Given the description of an element on the screen output the (x, y) to click on. 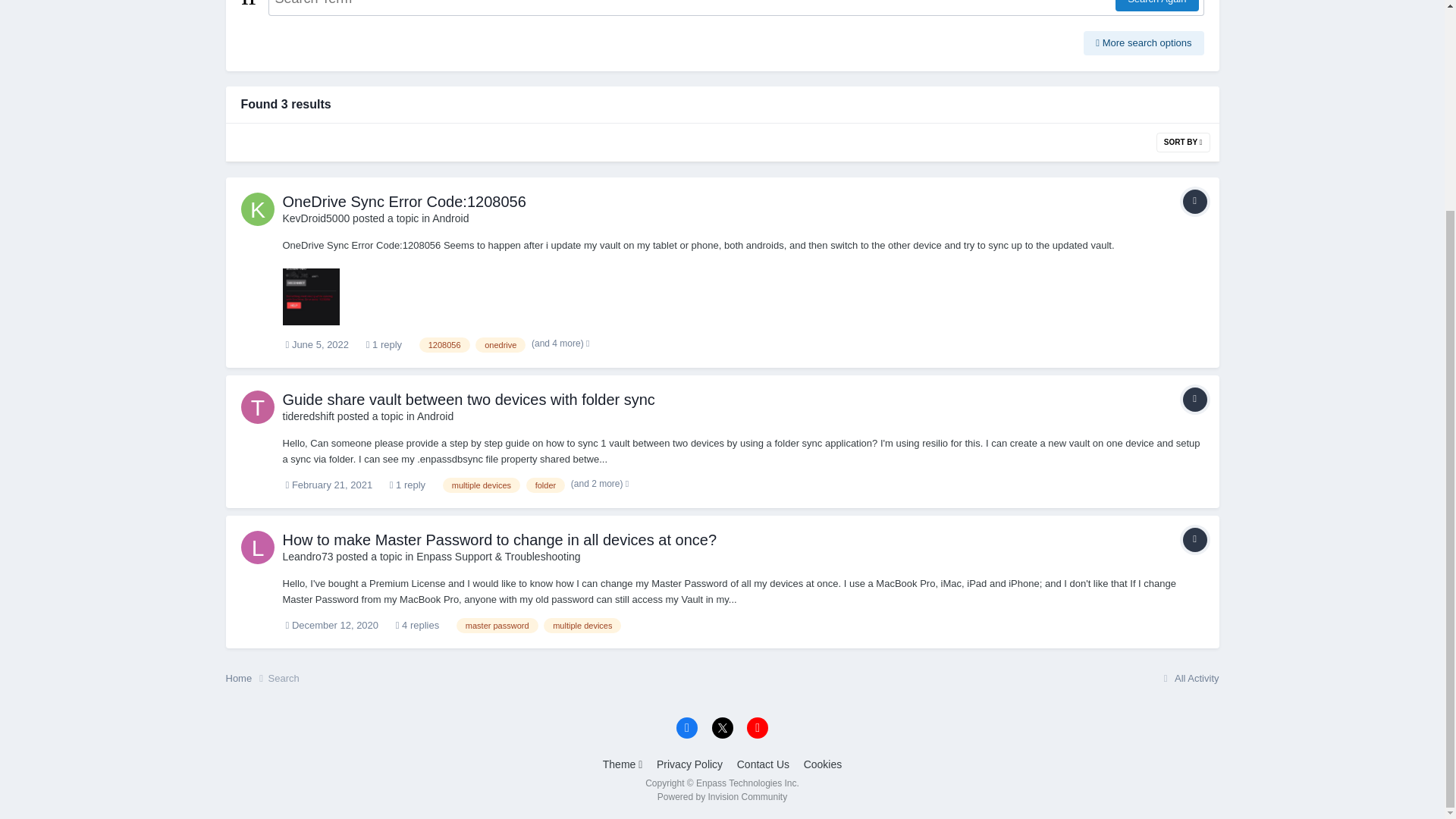
Go to tideredshift's profile (307, 416)
Find other content tagged with '1208056' (444, 344)
Topic (1194, 201)
Find other content tagged with 'onedrive' (500, 344)
Go to KevDroid5000's profile (258, 209)
Topic (1194, 399)
Search Again (1156, 5)
More search options (1143, 43)
Go to tideredshift's profile (258, 407)
Go to KevDroid5000's profile (315, 218)
